Given the description of an element on the screen output the (x, y) to click on. 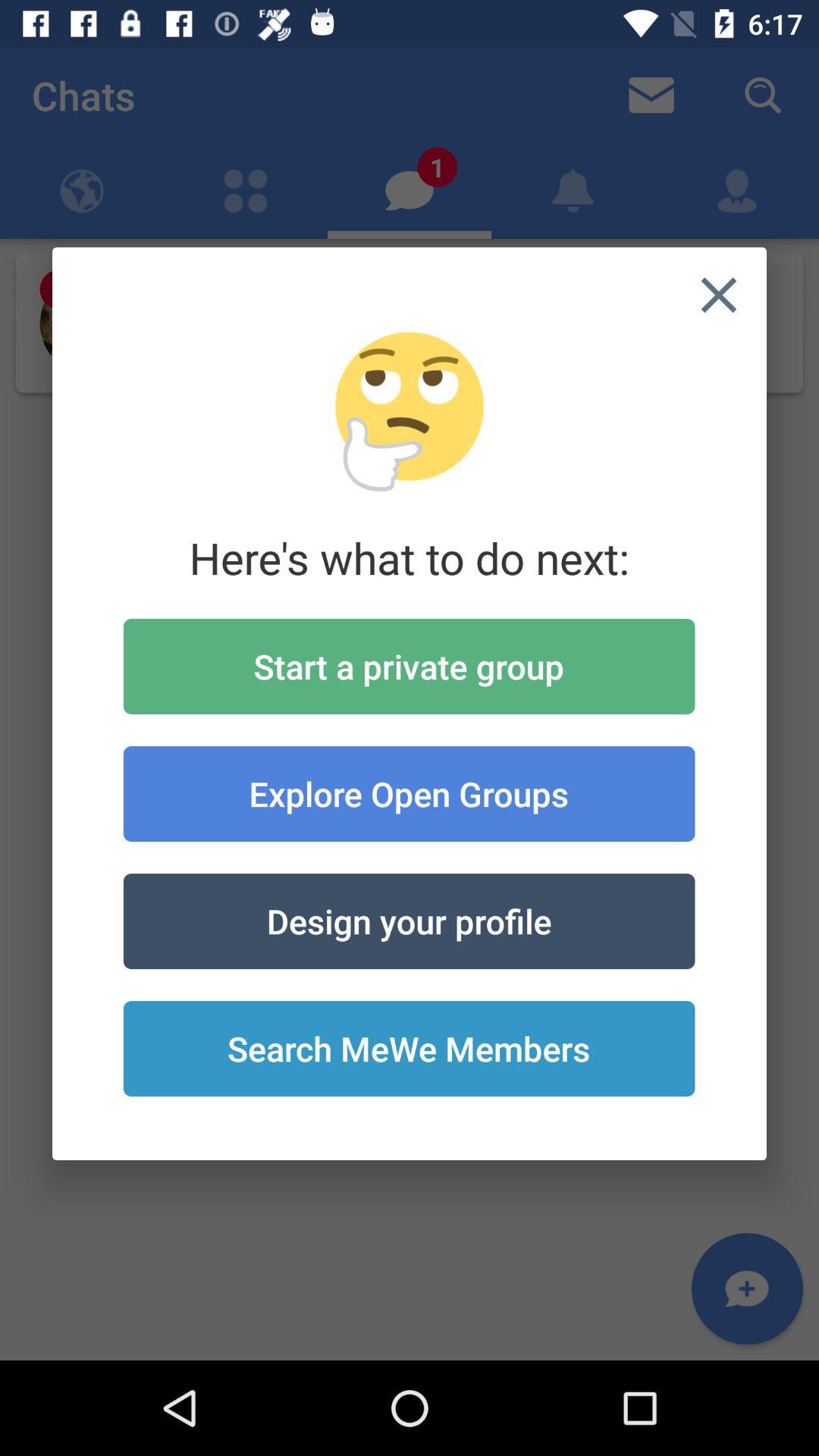
tap the design your profile item (409, 921)
